Given the description of an element on the screen output the (x, y) to click on. 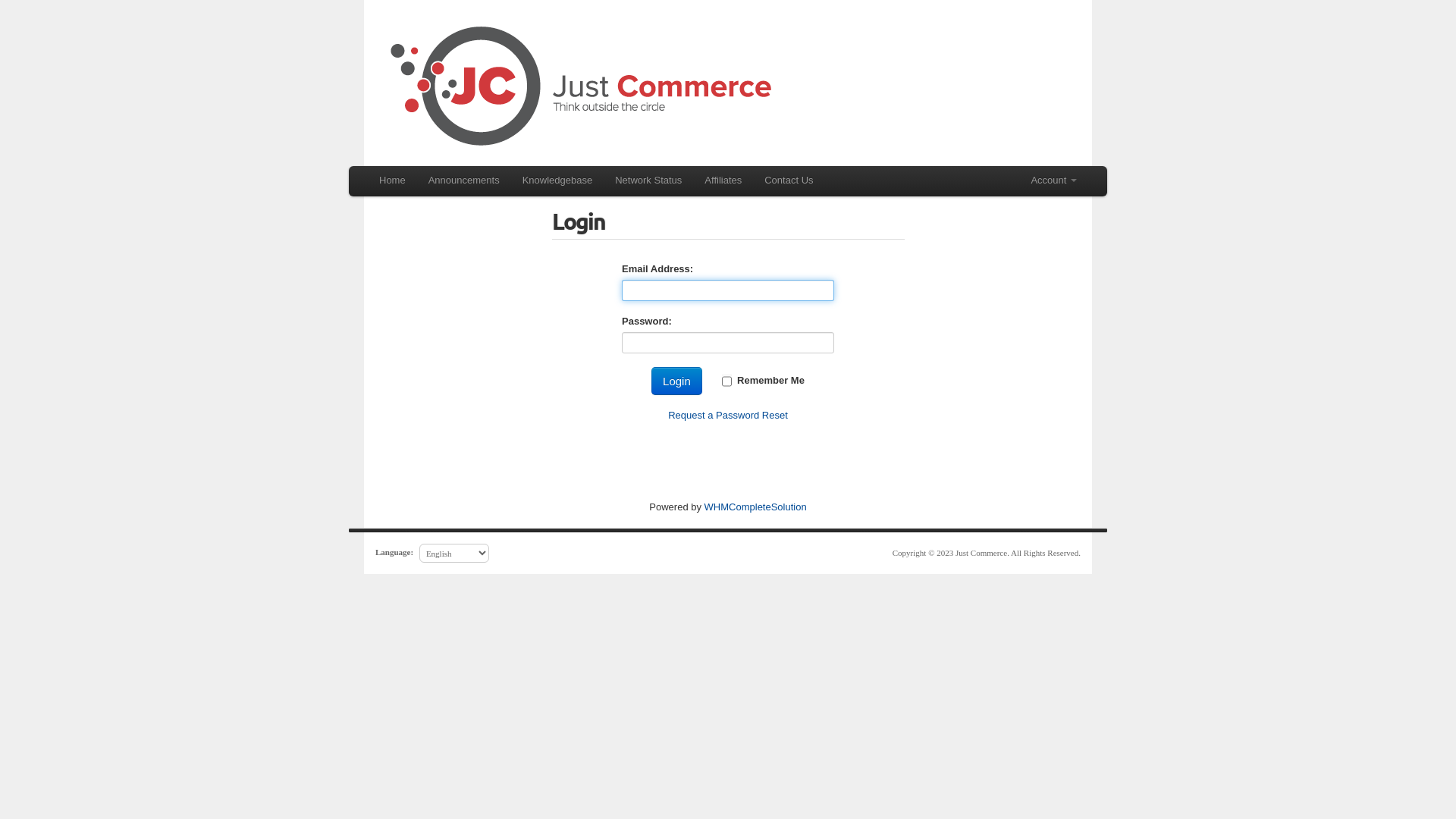
WHMCompleteSolution Element type: text (755, 506)
Network Status Element type: text (648, 180)
Contact Us Element type: text (788, 180)
Login Element type: text (676, 381)
Announcements Element type: text (463, 180)
Request a Password Reset Element type: text (727, 414)
Account  Element type: text (1053, 180)
Affiliates Element type: text (722, 180)
Knowledgebase Element type: text (557, 180)
Home Element type: text (392, 180)
